Given the description of an element on the screen output the (x, y) to click on. 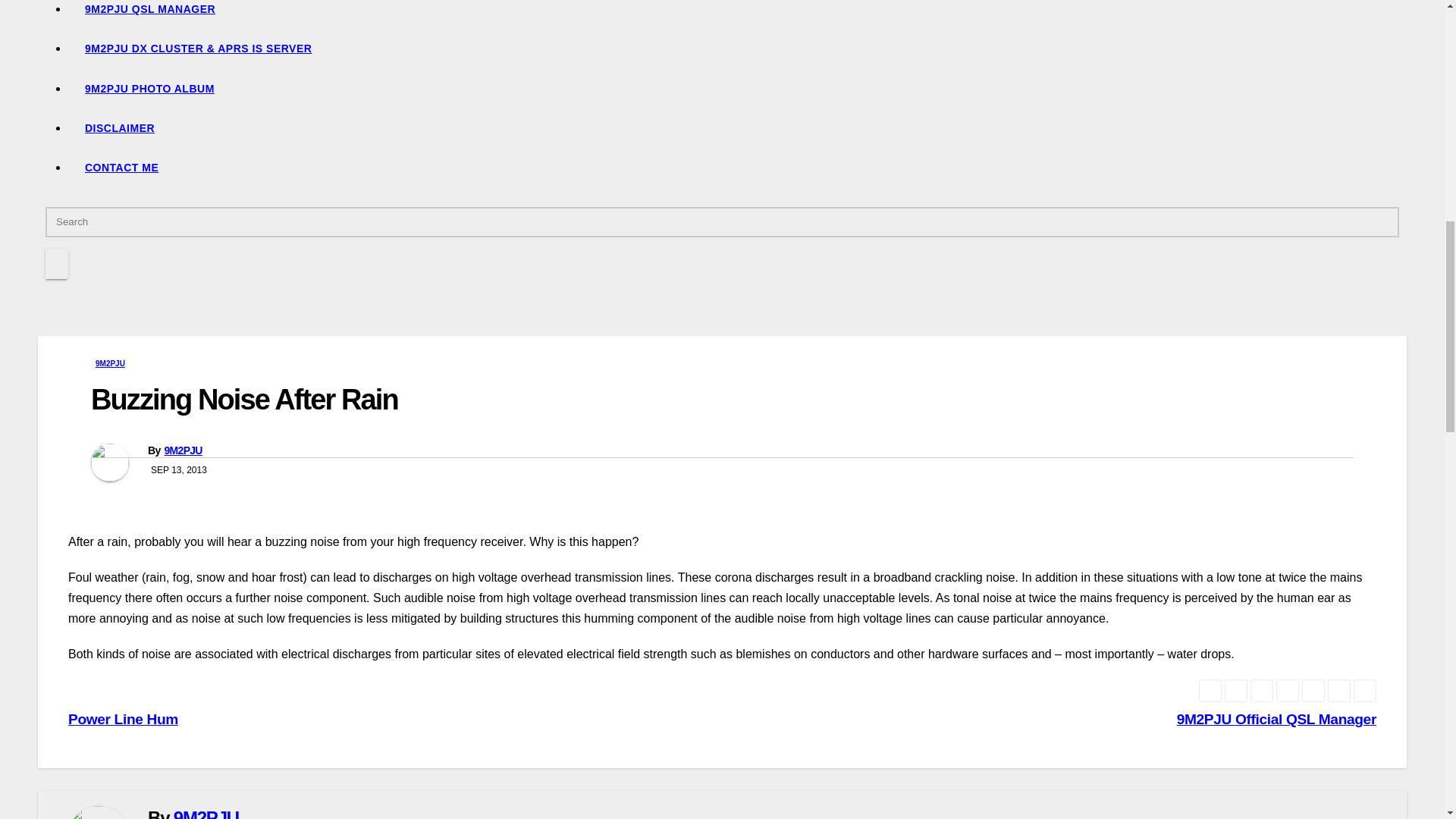
Buzzing Noise After Rain (243, 399)
9M2PJU (182, 450)
CONTACT ME (737, 167)
9M2PJU QSL MANAGER (737, 14)
Permalink to: Buzzing Noise After Rain (243, 399)
9M2PJU PHOTO ALBUM (737, 88)
9M2PJU (109, 364)
DISCLAIMER (737, 128)
